Given the description of an element on the screen output the (x, y) to click on. 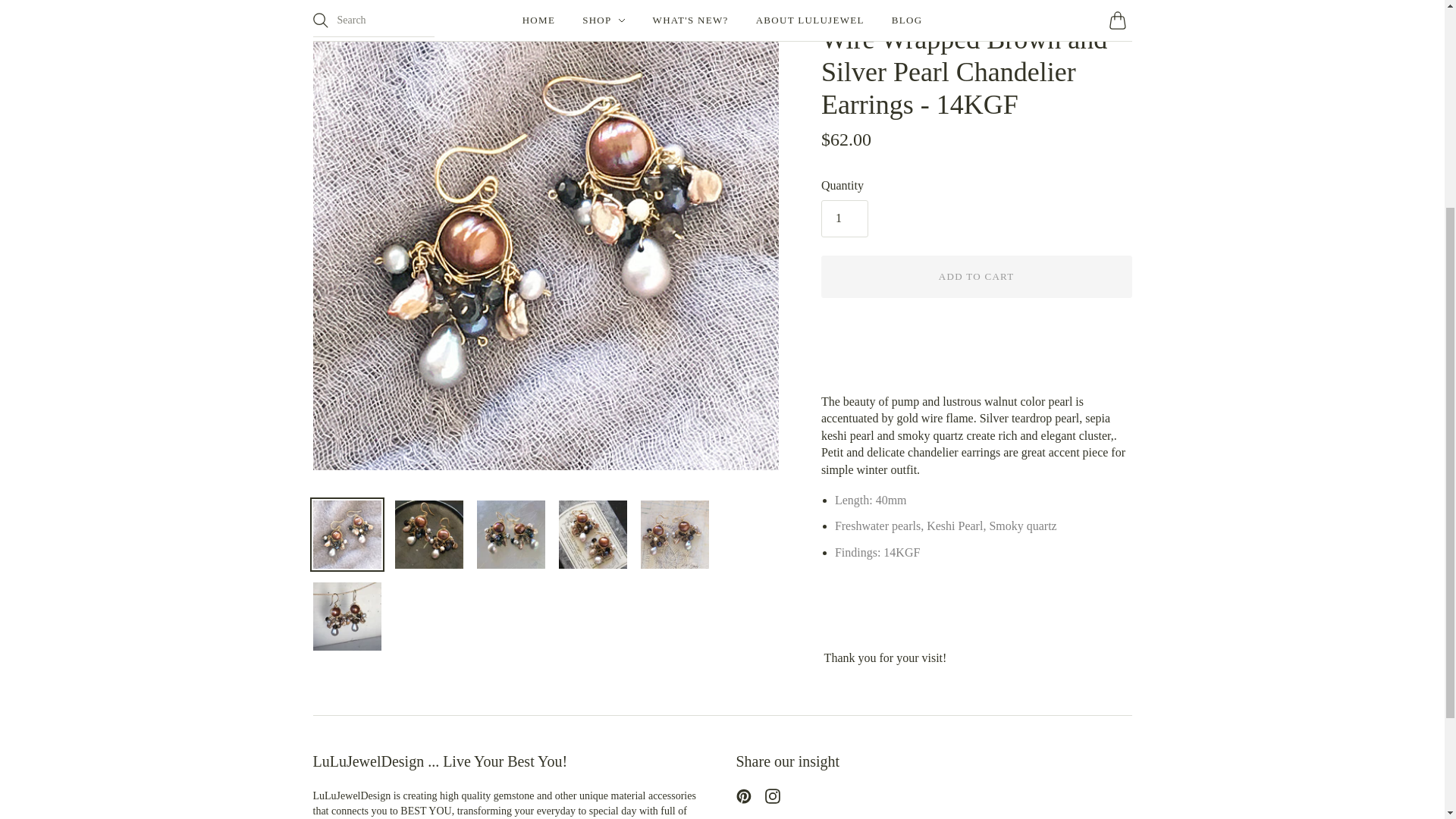
LULUJEWELDESIGN (871, 9)
1 (844, 217)
lulujeweldesign (871, 9)
